Given the description of an element on the screen output the (x, y) to click on. 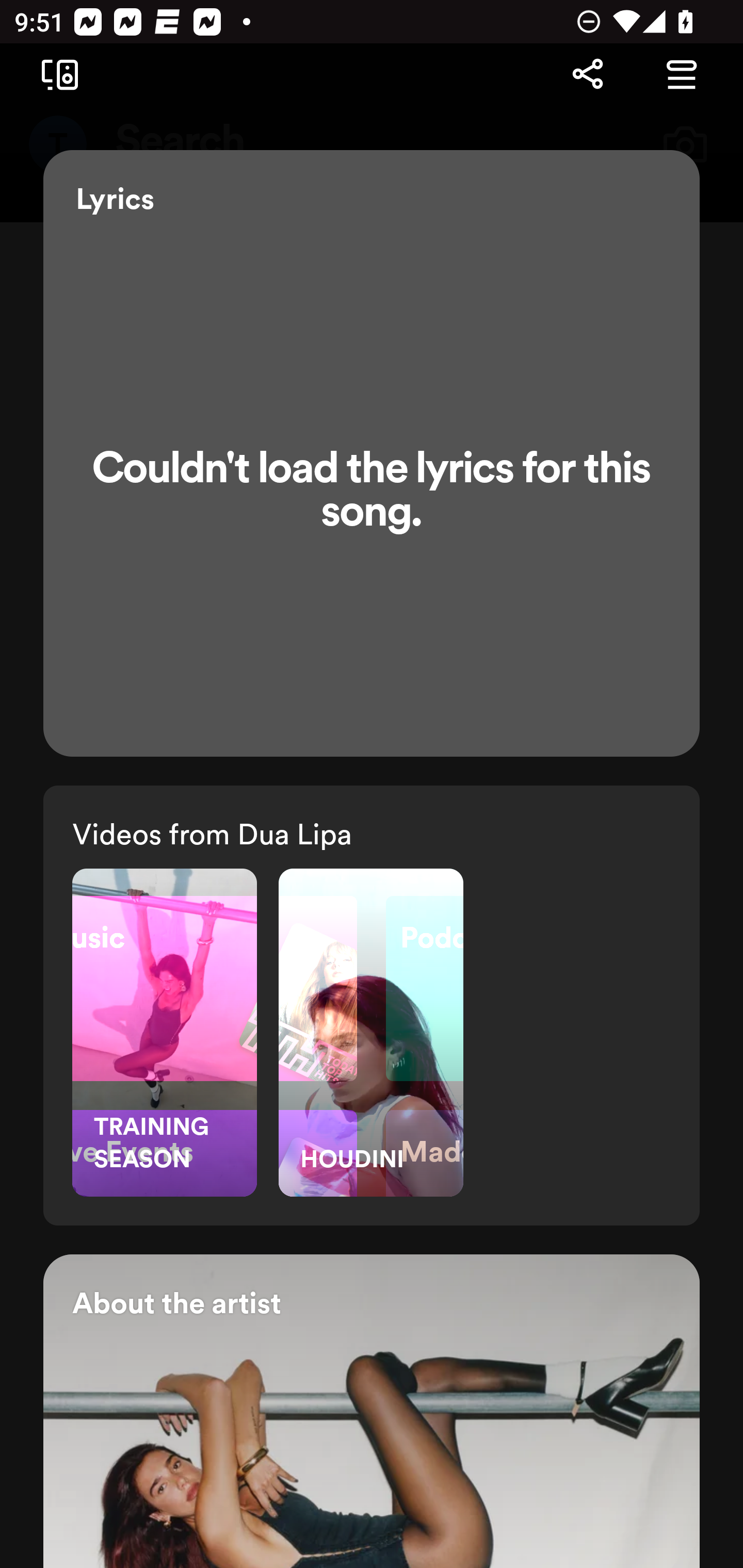
Share (587, 74)
Go to Queue (681, 74)
Connect to a device. Opens the devices menu (55, 74)
TRAINING SEASON (164, 1032)
HOUDINI (370, 1032)
About the artist (371, 1411)
